Given the description of an element on the screen output the (x, y) to click on. 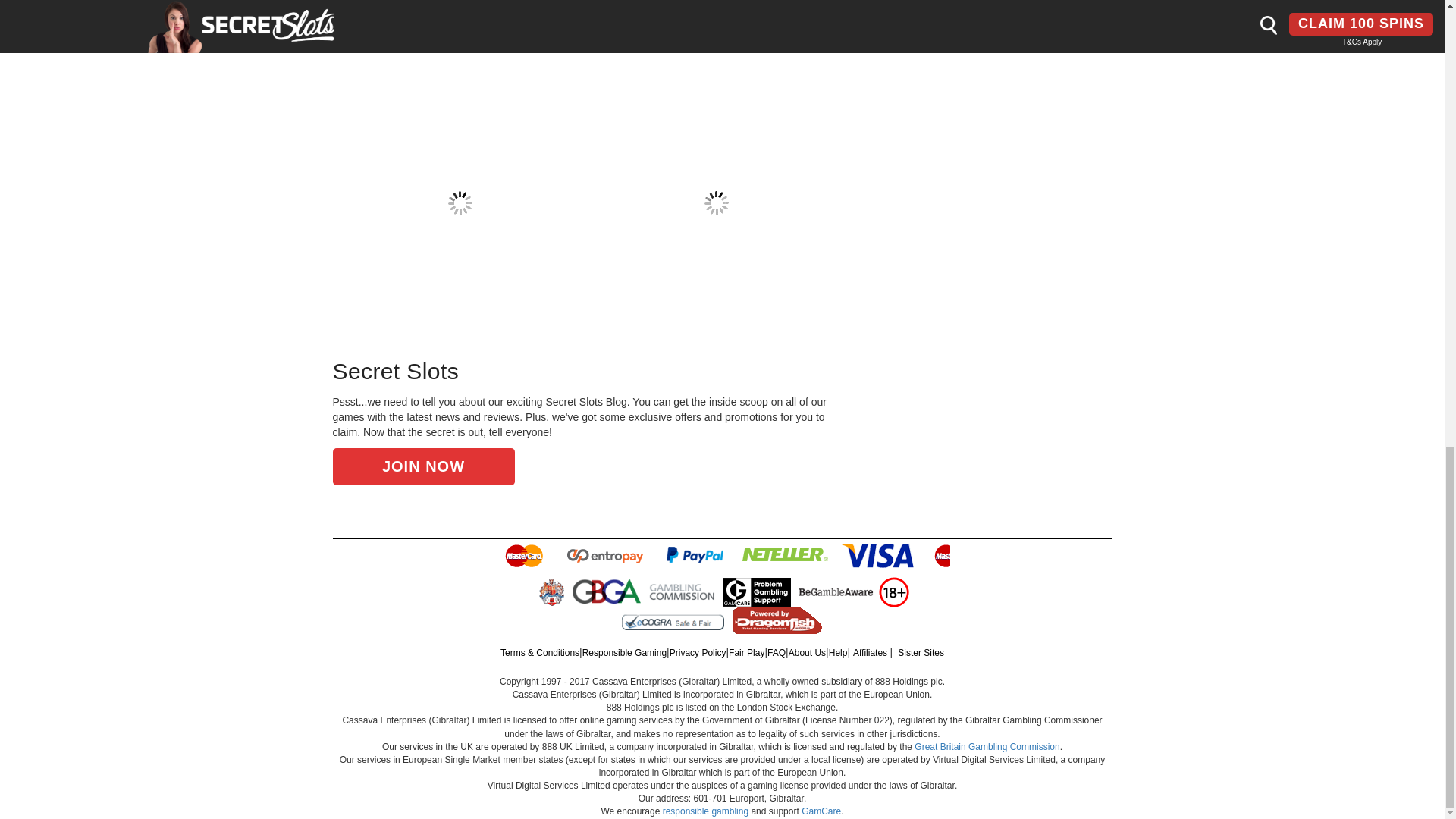
Responsible Gaming (893, 592)
GamCare (757, 591)
Gibralter Betting And Gaming Association (606, 591)
Various Sites logo (672, 619)
United Kingdom Gambling Commission (684, 591)
BeGambleAware (835, 591)
Gibralter Betting And Gaming Association (608, 591)
JOIN NOW (422, 466)
Goverment of Gibraltar (550, 592)
Powered by Dragonfish (777, 619)
